Given the description of an element on the screen output the (x, y) to click on. 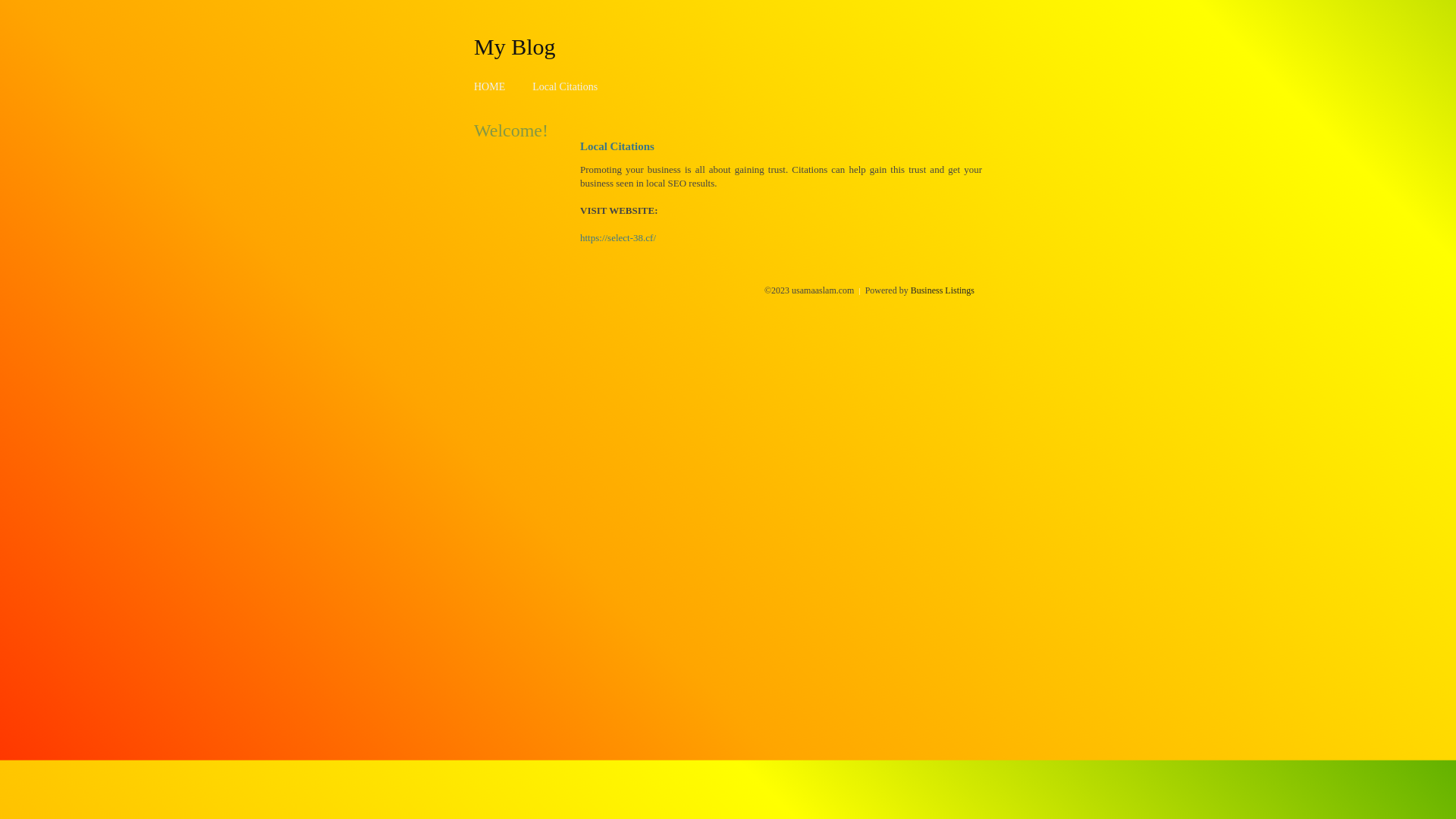
Business Listings Element type: text (942, 290)
HOME Element type: text (489, 86)
My Blog Element type: text (514, 46)
https://select-38.cf/ Element type: text (617, 237)
Local Citations Element type: text (564, 86)
